Given the description of an element on the screen output the (x, y) to click on. 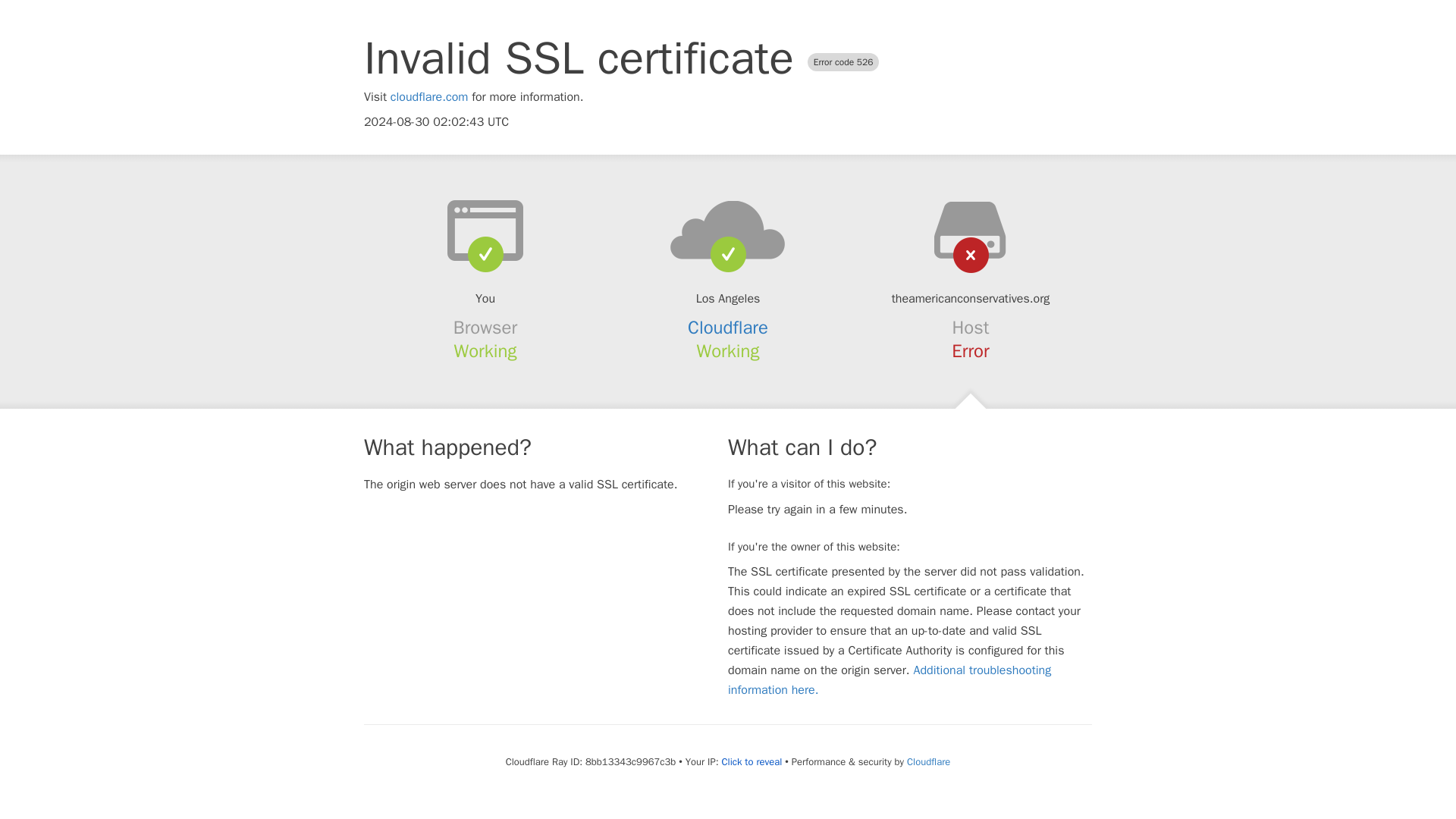
Cloudflare (727, 327)
Cloudflare (928, 761)
cloudflare.com (429, 96)
Additional troubleshooting information here. (889, 679)
Click to reveal (750, 762)
